Given the description of an element on the screen output the (x, y) to click on. 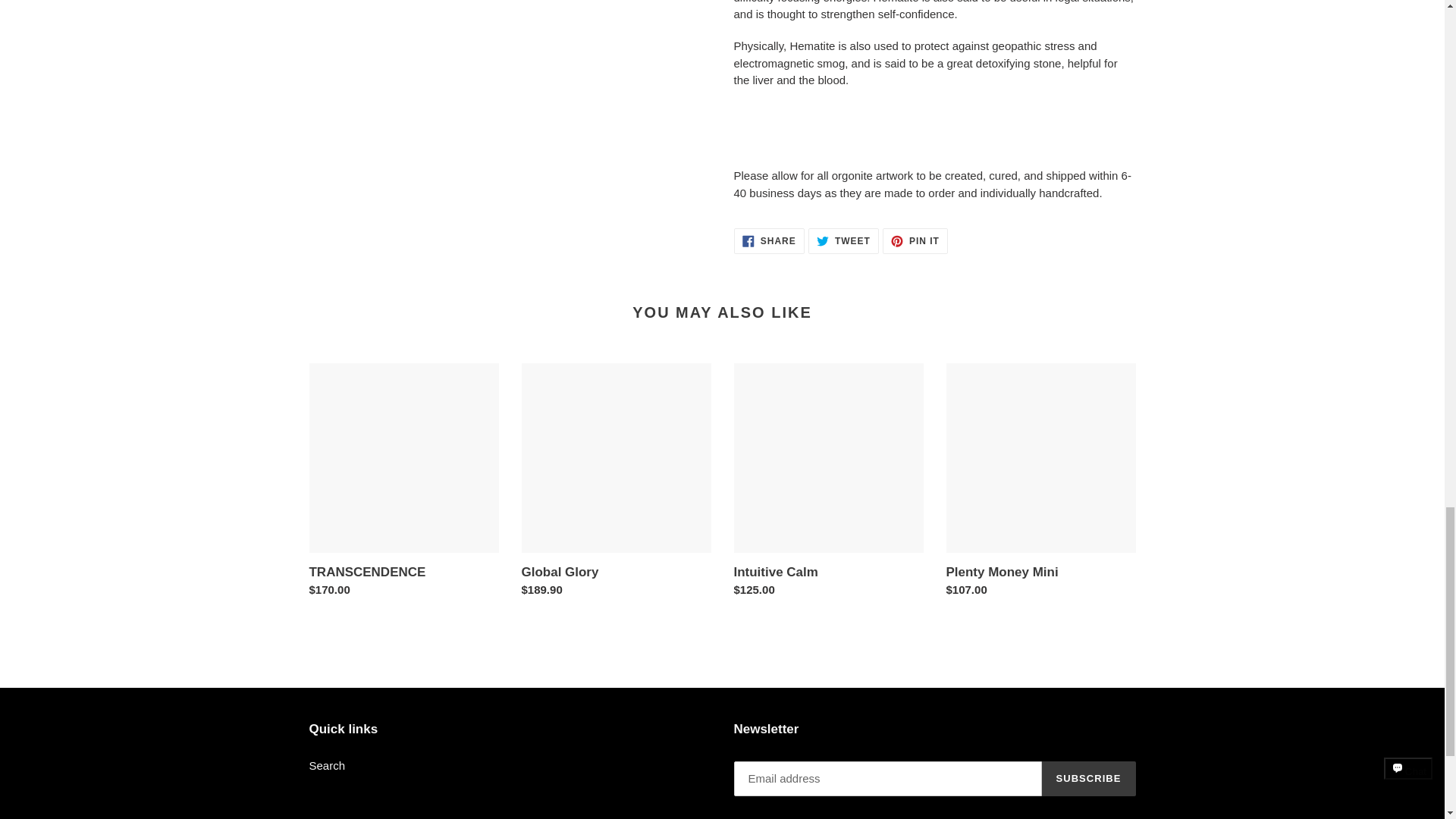
SUBSCRIBE (1088, 778)
Search (914, 240)
